Given the description of an element on the screen output the (x, y) to click on. 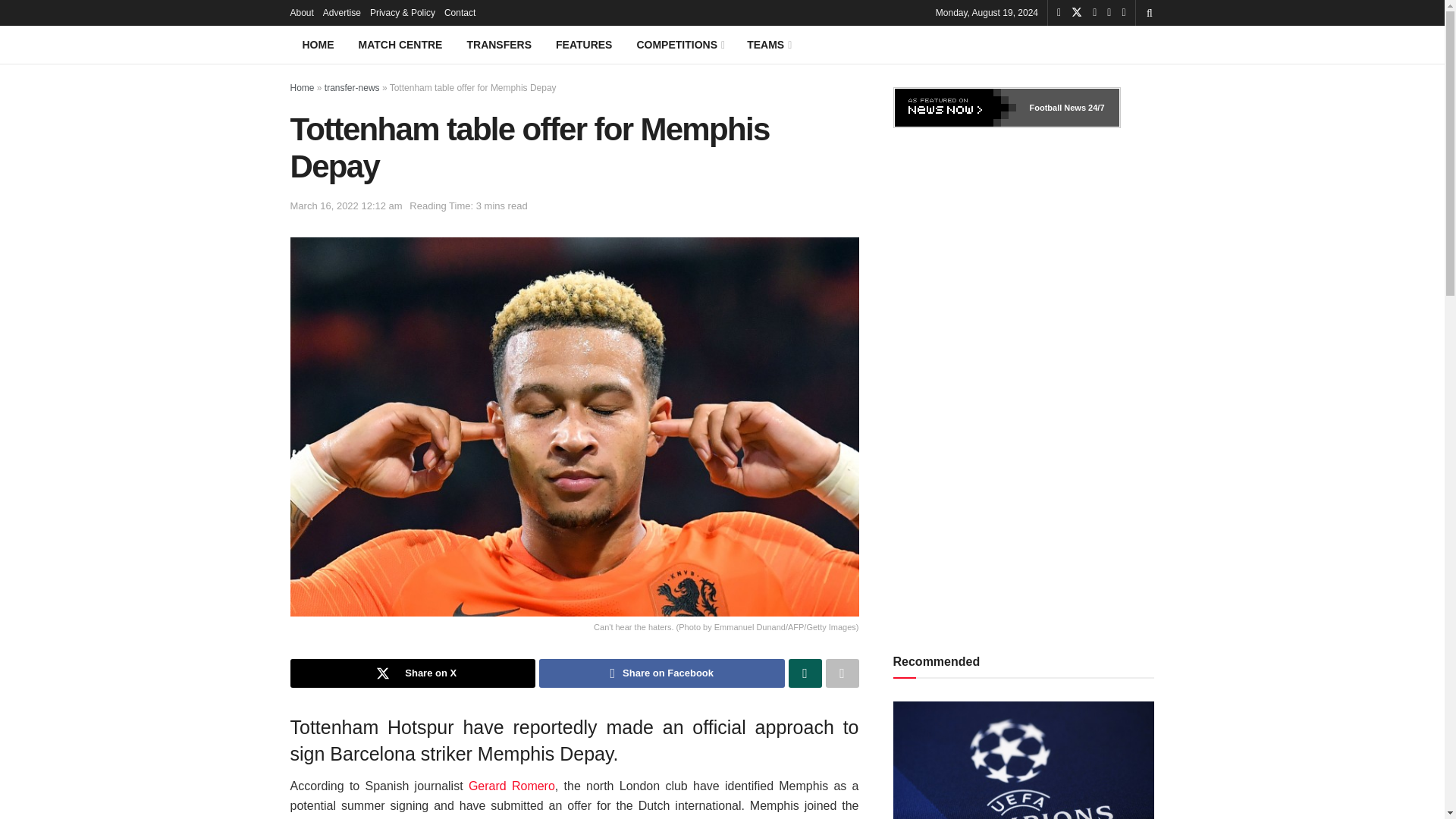
HOME (317, 44)
Contact (460, 12)
Click here for more Football news from NewsNow (1057, 107)
COMPETITIONS (679, 44)
FEATURES (583, 44)
Click here for more Football news from NewsNow (1094, 107)
MATCH CENTRE (400, 44)
Click here for more Football news from NewsNow (955, 107)
Advertise (342, 12)
About (301, 12)
